Given the description of an element on the screen output the (x, y) to click on. 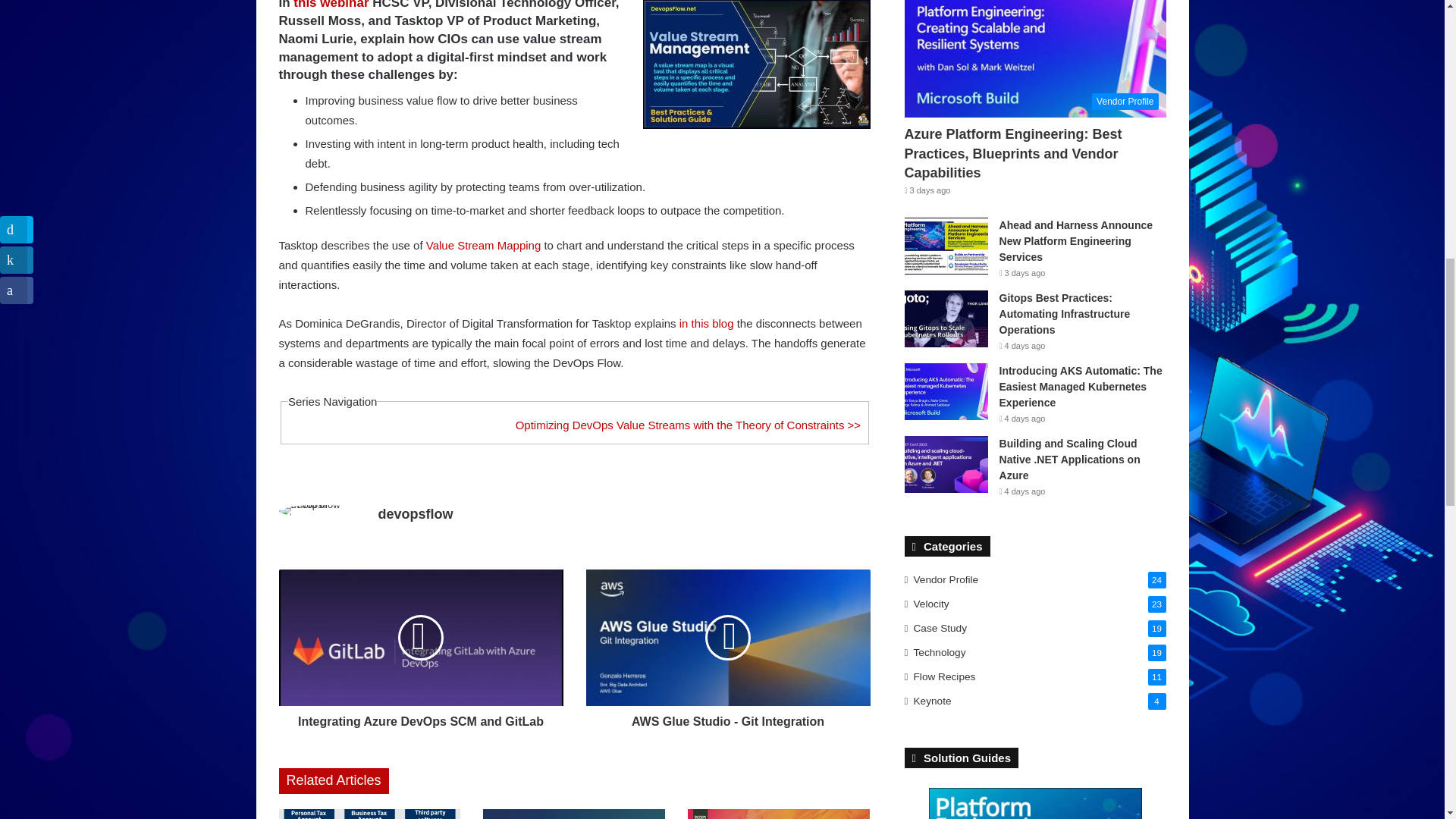
Integrating Azure DevOps SCM and GitLab (421, 717)
Value Stream Mapping (483, 245)
this webinar (331, 4)
in this blog (706, 323)
AWS Glue Studio - Git Integration (727, 717)
devopsflow (414, 513)
